Given the description of an element on the screen output the (x, y) to click on. 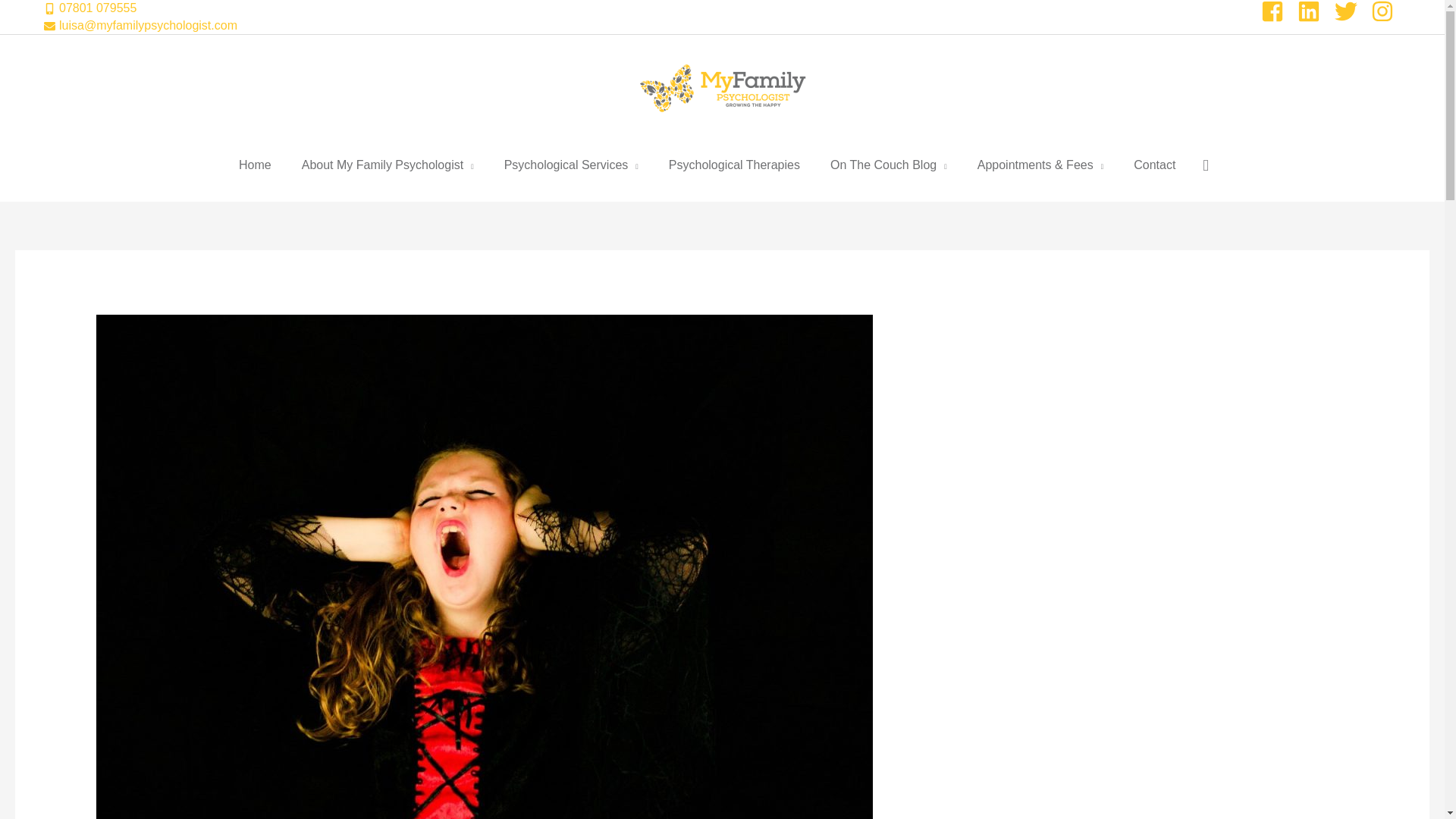
About My Family Psychologist (387, 164)
On The Couch Blog (888, 164)
07801 079555 (89, 8)
Home (255, 164)
Psychological Therapies (734, 164)
Psychological Services (571, 164)
